Given the description of an element on the screen output the (x, y) to click on. 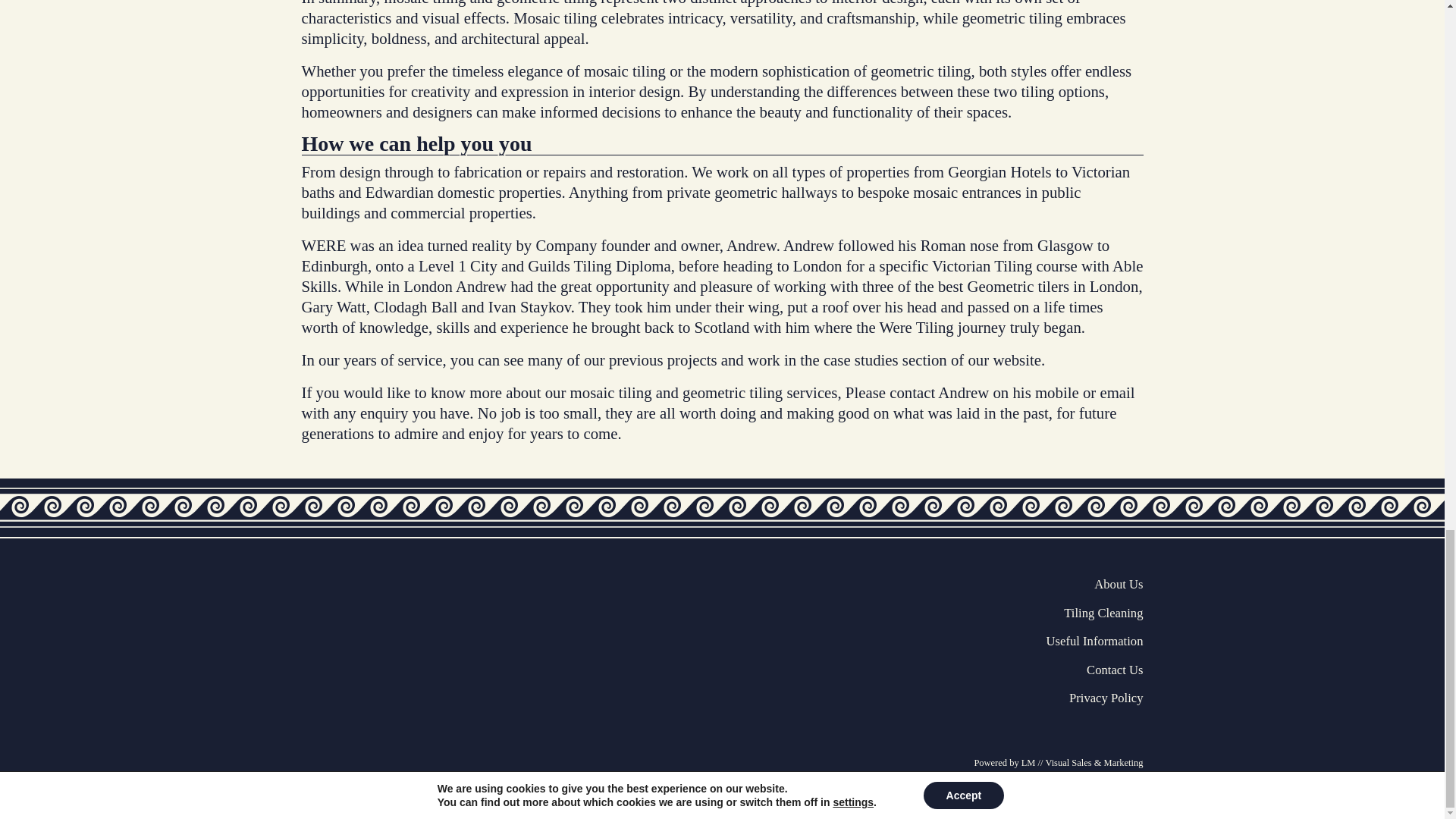
Tiling Cleaning (1103, 612)
Contact Us (1114, 669)
Useful Information (1094, 640)
Privacy Policy (1105, 698)
About Us (1118, 584)
